Given the description of an element on the screen output the (x, y) to click on. 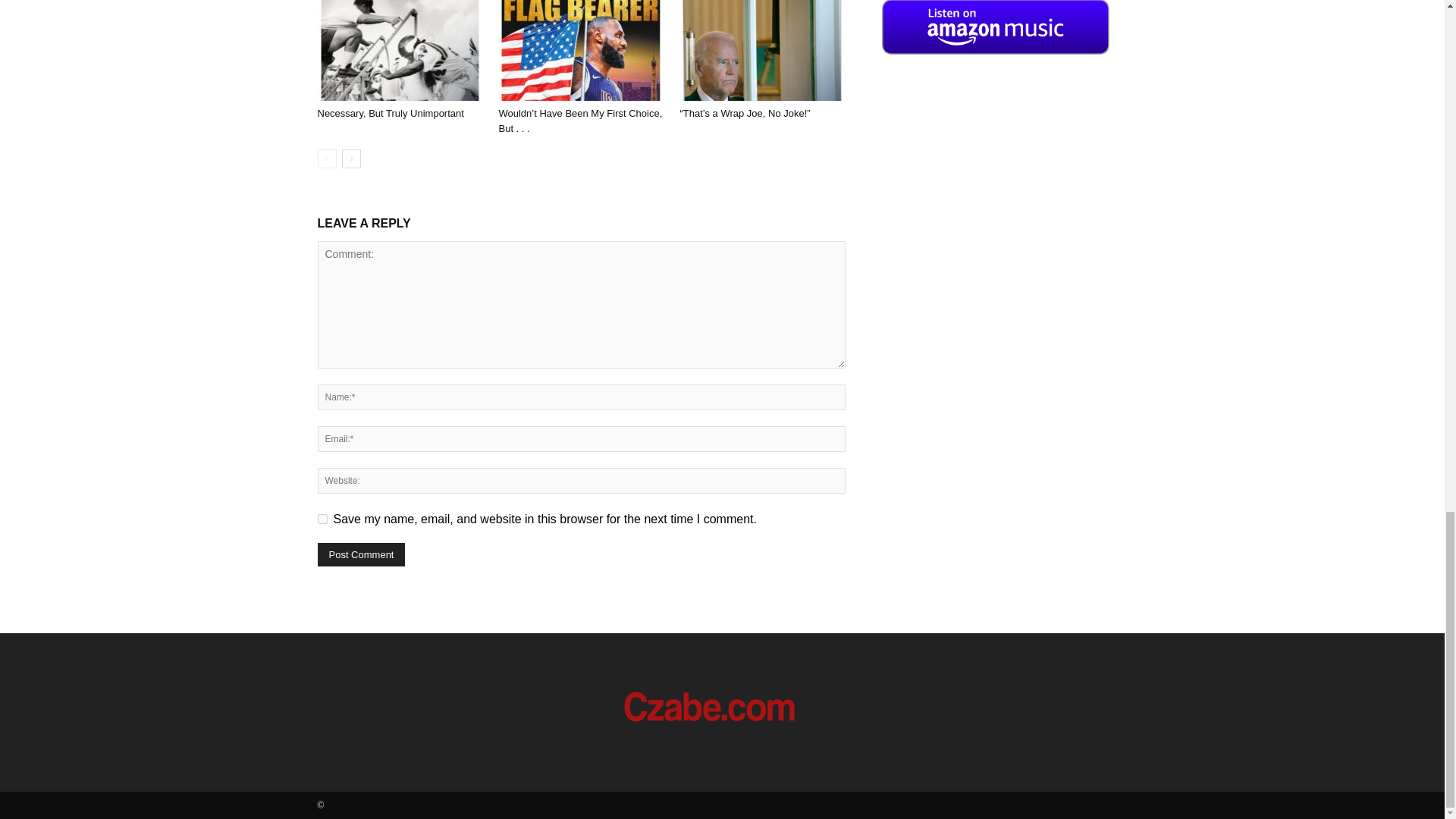
yes (321, 519)
Necessary, But Truly Unimportant (399, 50)
Post Comment (360, 554)
